Given the description of an element on the screen output the (x, y) to click on. 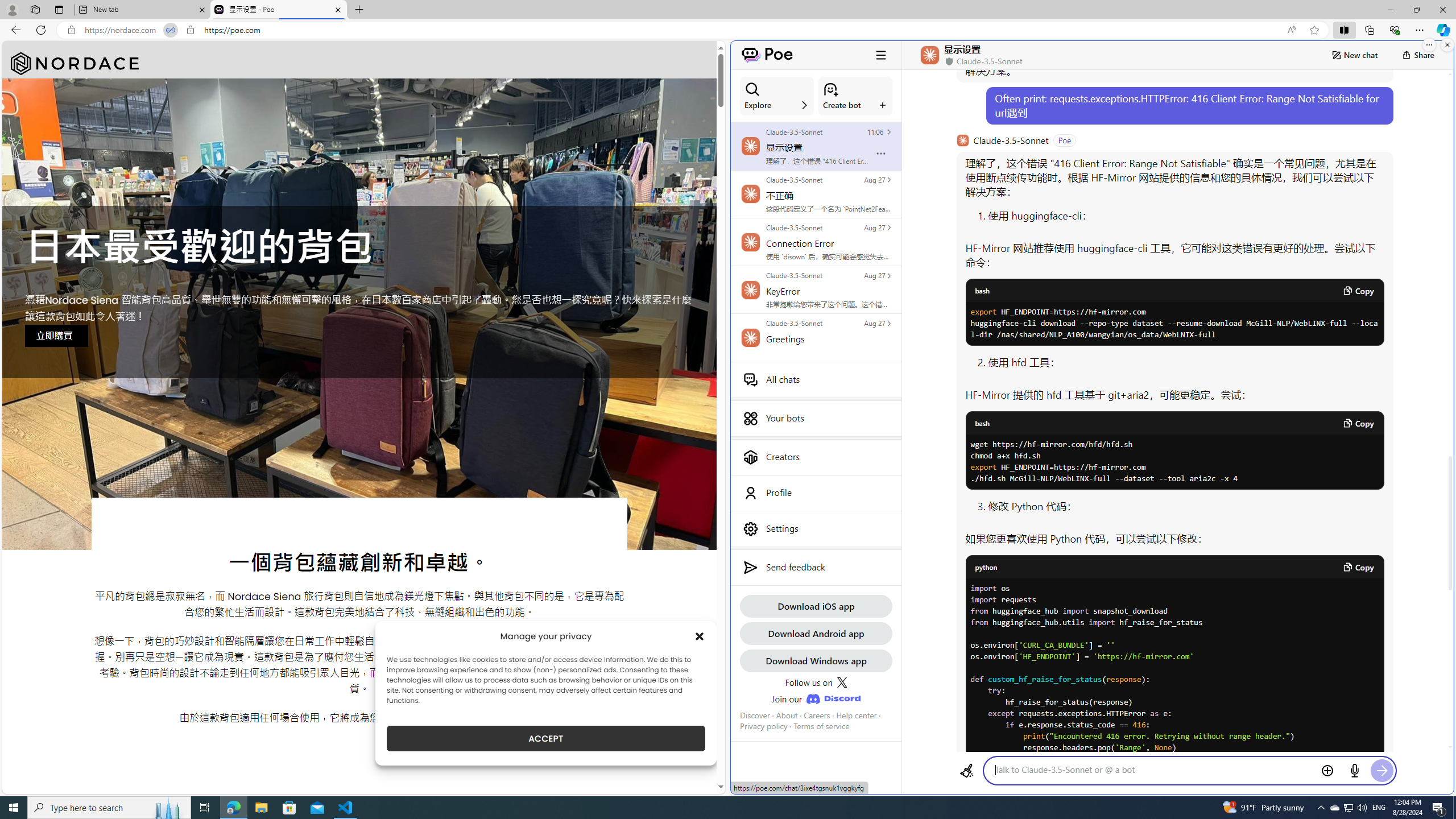
All chats (815, 379)
Profile (815, 493)
Class: ChatPrivacyIndicator_shieldIcon__4JelG (948, 61)
Personal Profile (12, 9)
Careers (816, 714)
Class: JoinDiscordLink_discordIcon__Xw13A (833, 698)
Close (1442, 9)
Class: ChatHistoryListItem_chevronIcon__zJZSN (888, 322)
Close tab (338, 9)
Class: ManageBotsCardSection_labelIcon__EjW_j (882, 104)
Workspaces (34, 9)
Help center (855, 714)
